Given the description of an element on the screen output the (x, y) to click on. 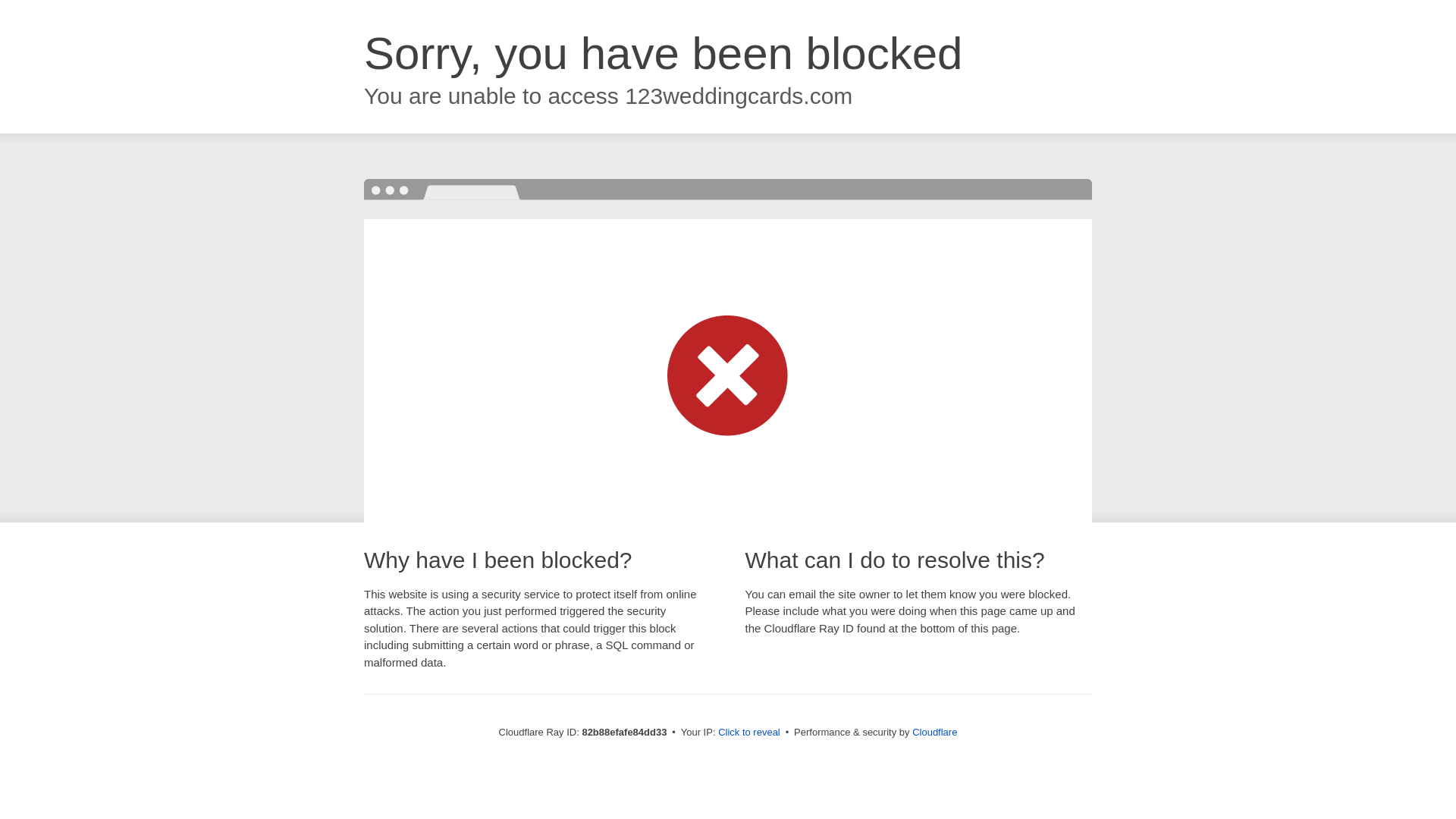
Cloudflare Element type: text (934, 731)
Click to reveal Element type: text (749, 732)
